Given the description of an element on the screen output the (x, y) to click on. 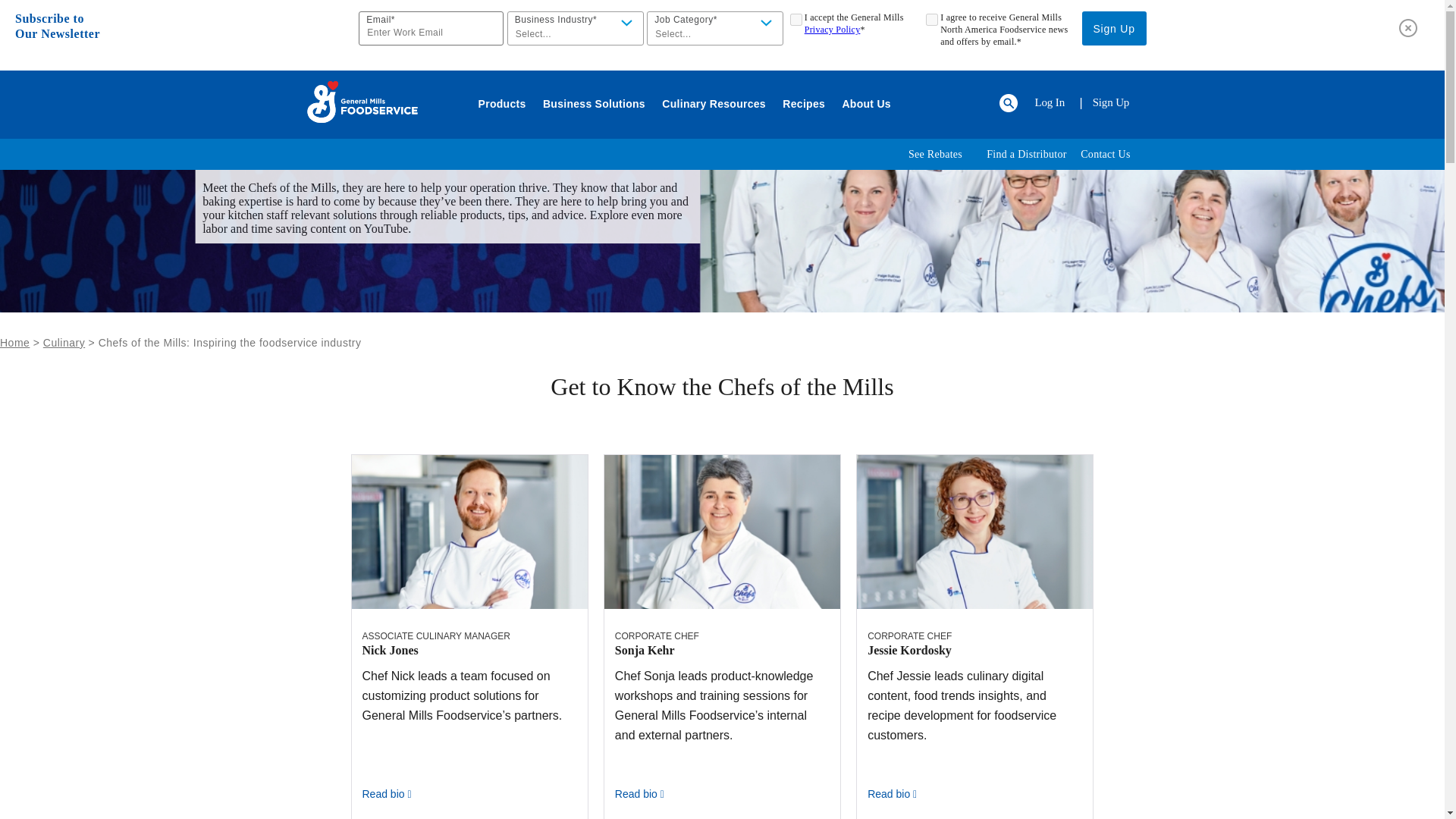
job category (714, 28)
accept terms and conditions (796, 19)
Privacy Policy (832, 29)
email communication opt in (931, 19)
on (931, 19)
Email is required. (430, 28)
business industry (574, 28)
on (796, 19)
Products (502, 104)
Sign Up (1114, 28)
